Given the description of an element on the screen output the (x, y) to click on. 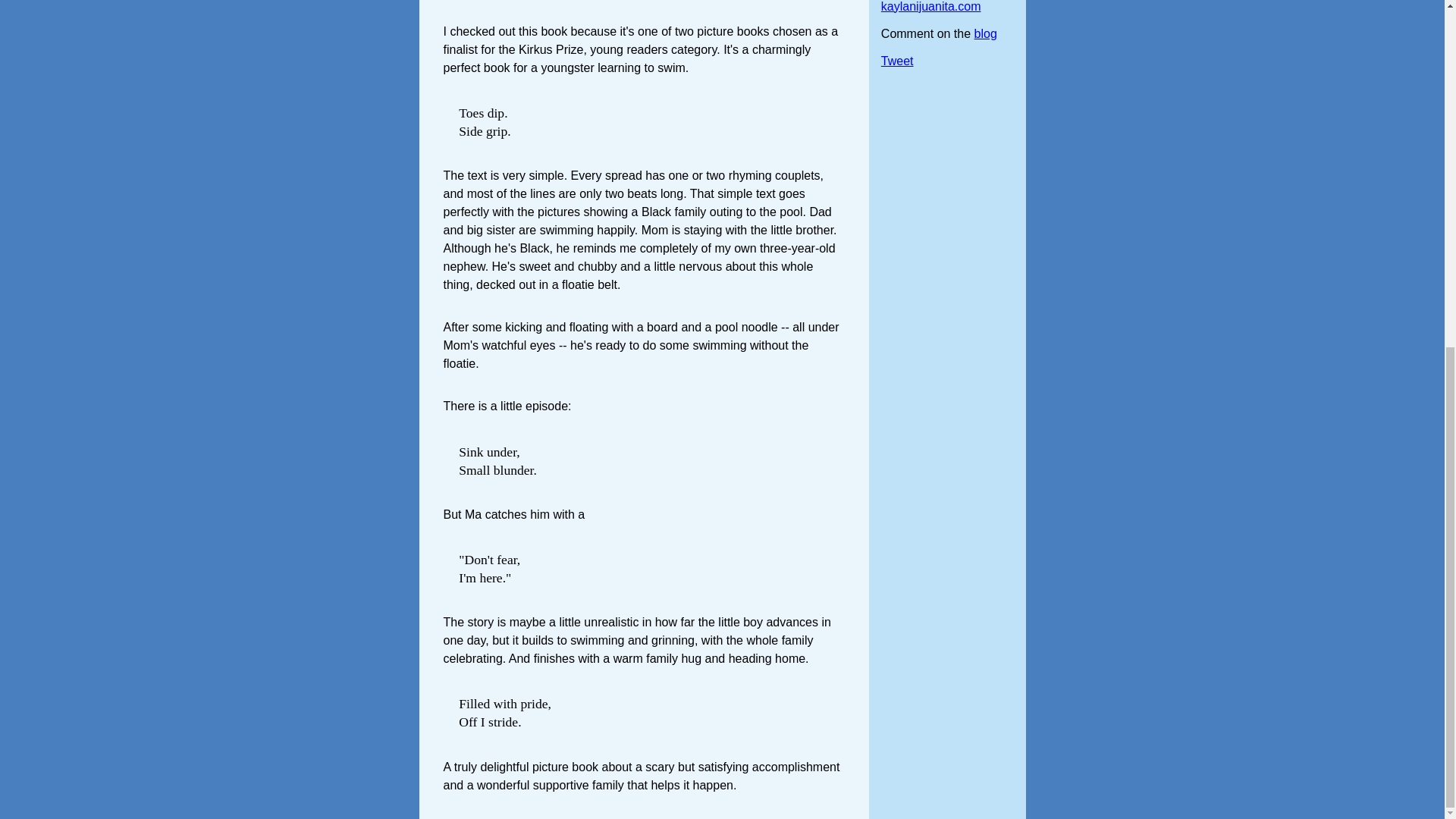
blog (985, 33)
Tweet (897, 60)
kaylanijuanita.com (930, 6)
